Given the description of an element on the screen output the (x, y) to click on. 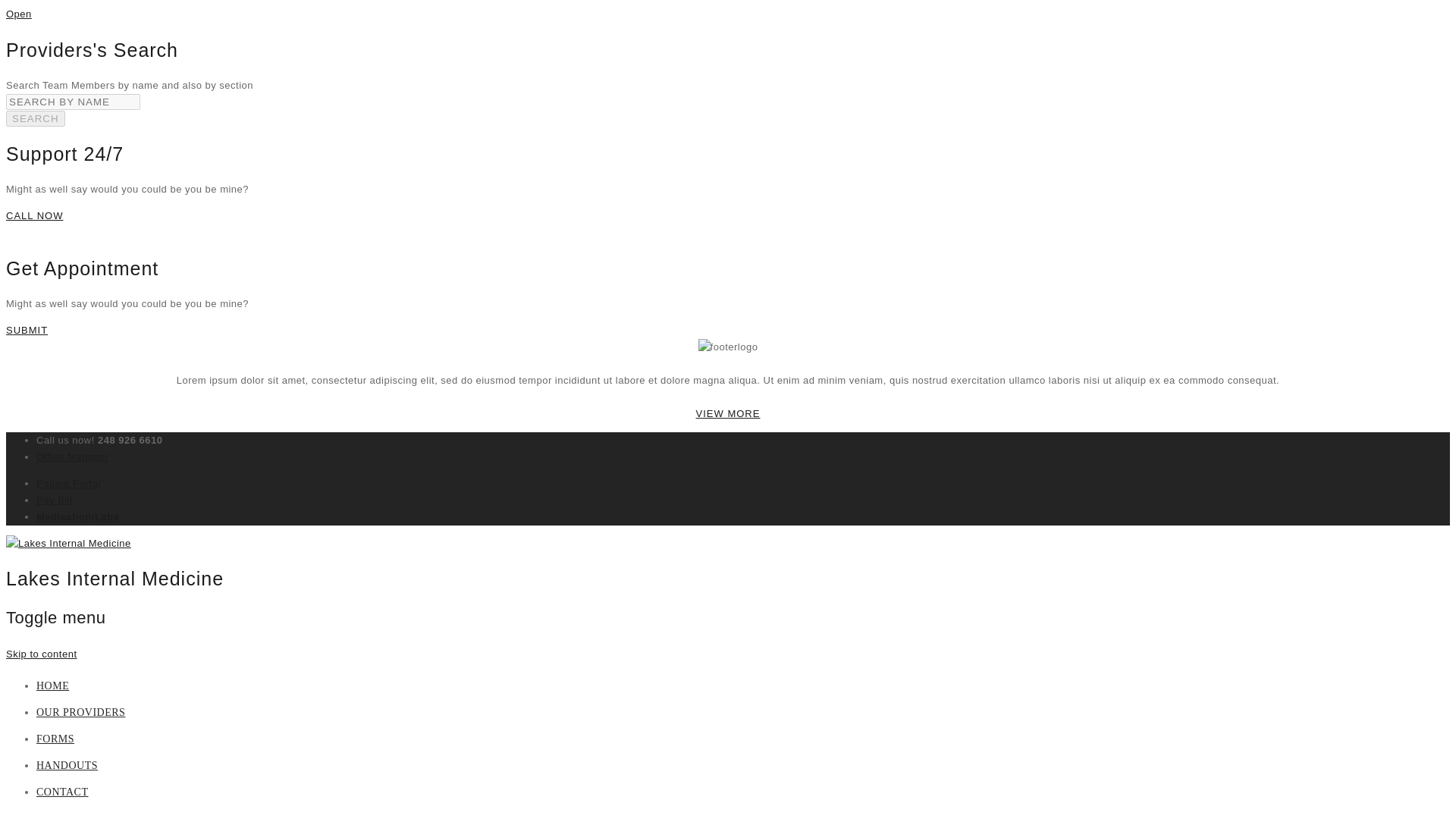
Patient Portal (68, 482)
SUBMIT (26, 329)
Open (18, 13)
Skip to content (41, 654)
CONTACT (62, 791)
CALL NOW (33, 215)
Lakes Internal Medicine (68, 542)
Skip to content (41, 654)
HOME (52, 685)
Pay Bill (53, 500)
SEARCH (35, 118)
HANDOUTS (66, 765)
VIEW MORE (727, 413)
Office Manager (72, 455)
FORMS (55, 738)
